Given the description of an element on the screen output the (x, y) to click on. 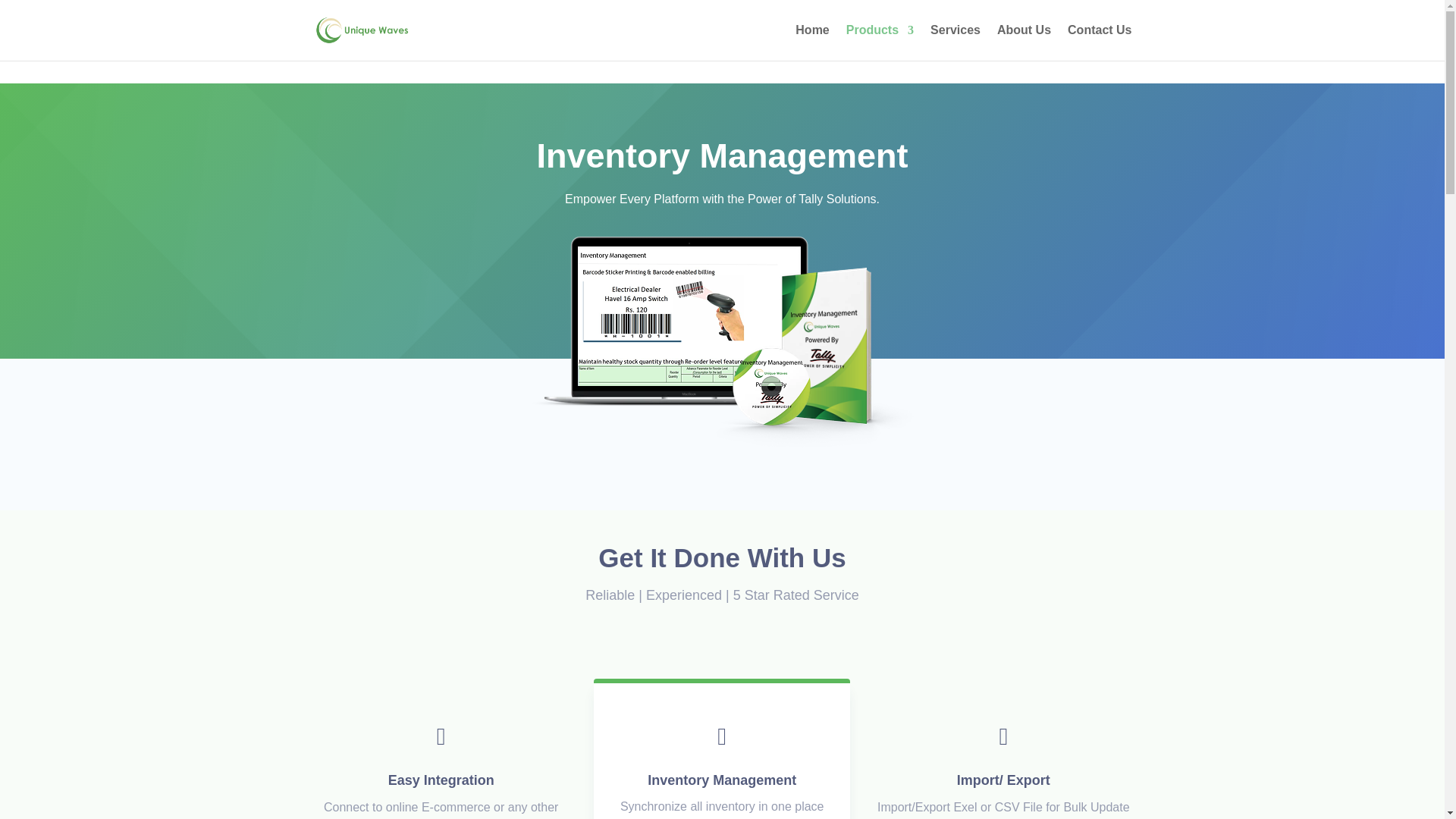
Products (879, 42)
Inventory Management 1 (721, 340)
About Us (1024, 42)
Home (811, 42)
Contact Us (1099, 42)
Services (954, 42)
